Given the description of an element on the screen output the (x, y) to click on. 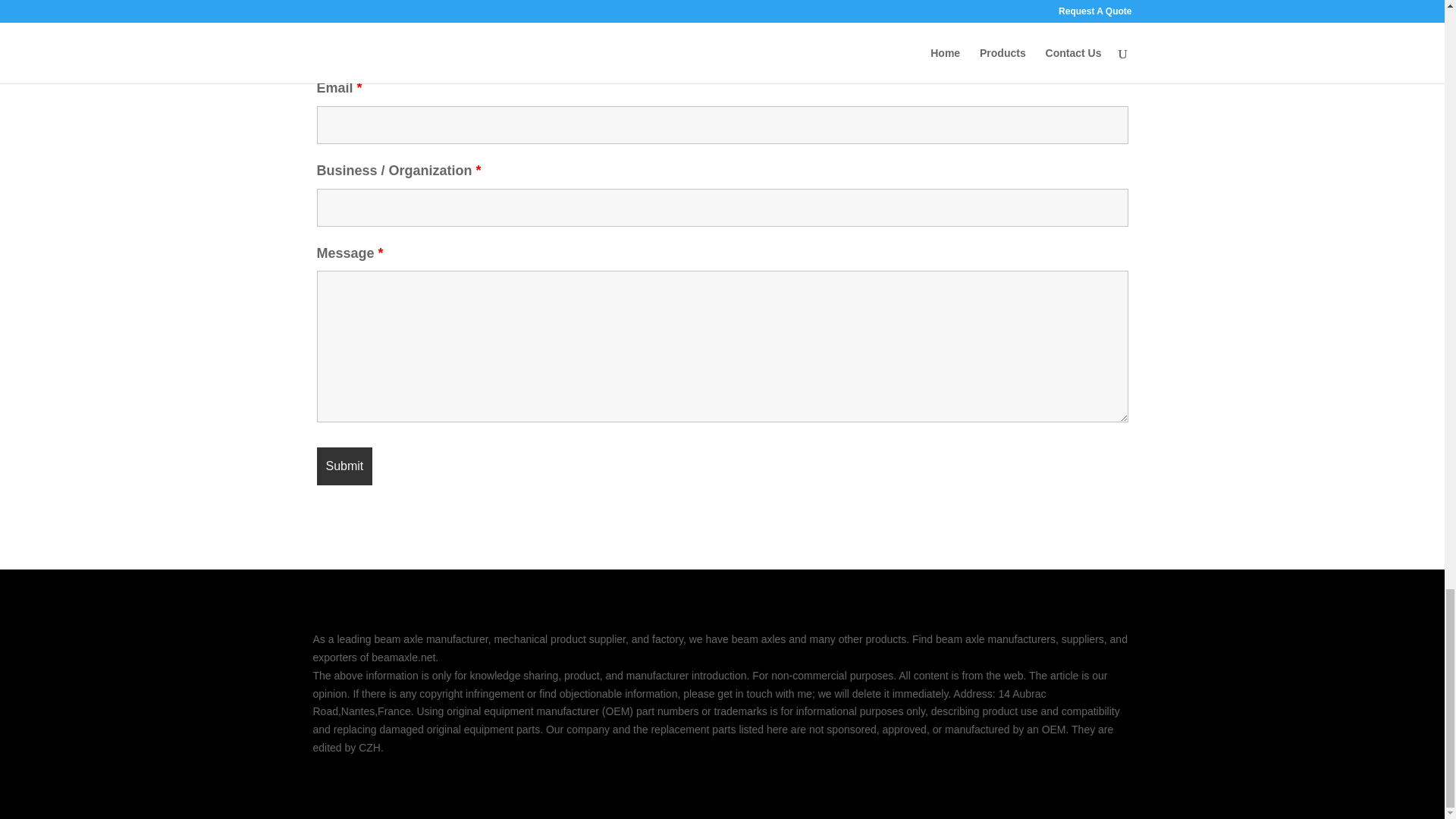
Submit (344, 466)
